Given the description of an element on the screen output the (x, y) to click on. 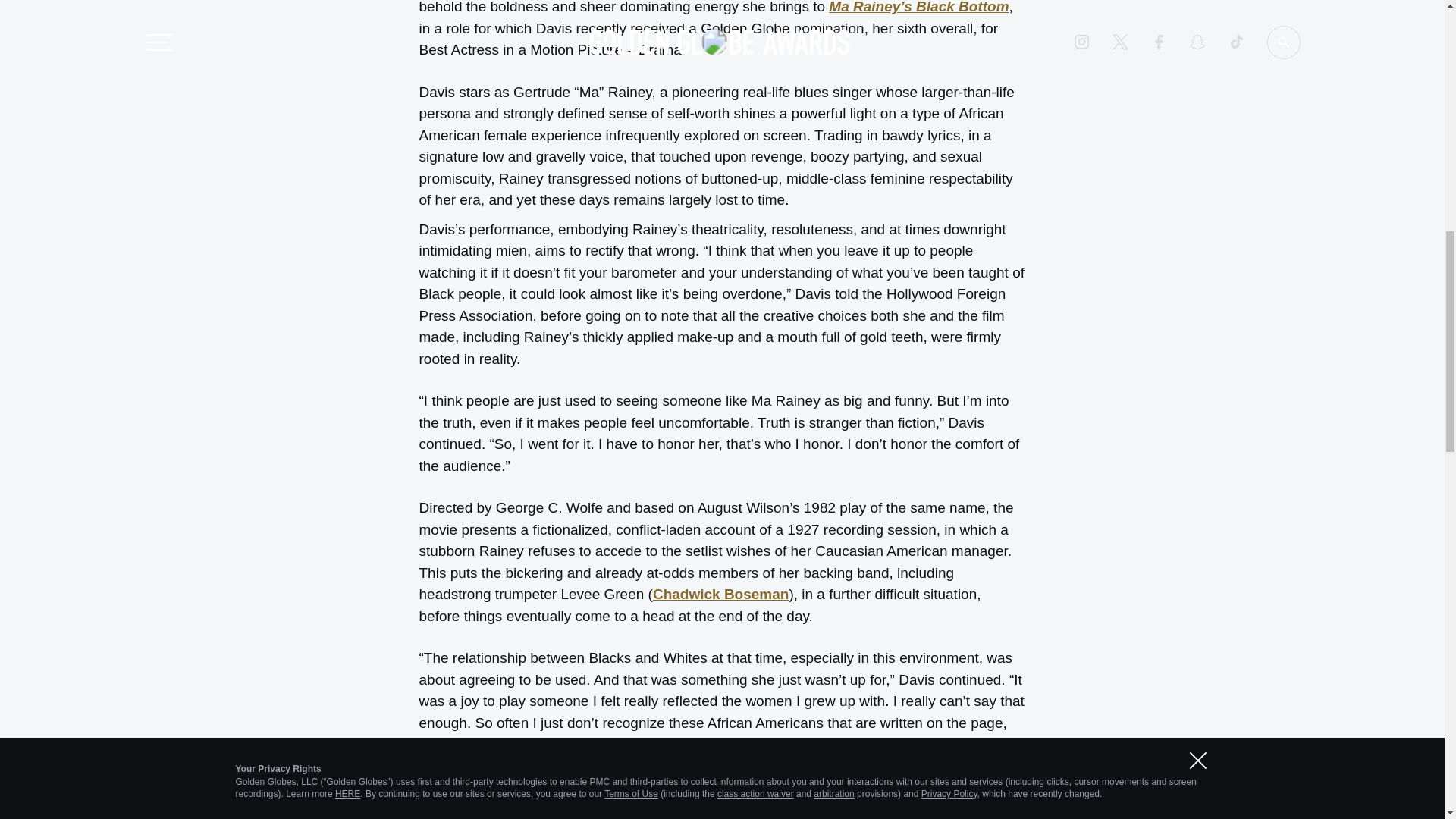
Chadwick Boseman (720, 593)
